Given the description of an element on the screen output the (x, y) to click on. 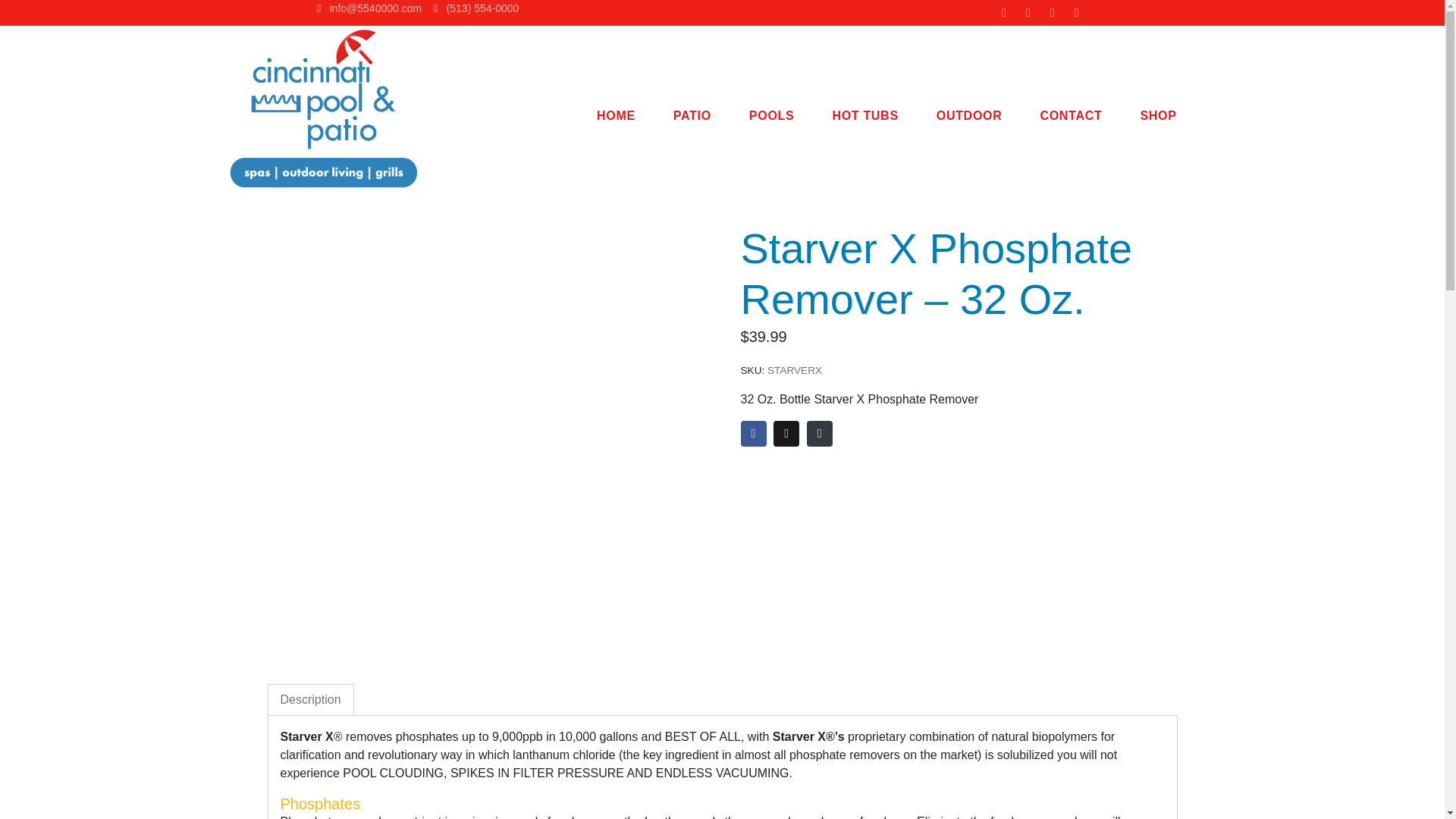
CONTACT (1070, 115)
PATIO (691, 115)
OUTDOOR (969, 115)
POOLS (771, 115)
HOME (615, 115)
HOT TUBS (864, 115)
SHOP (1158, 115)
